Given the description of an element on the screen output the (x, y) to click on. 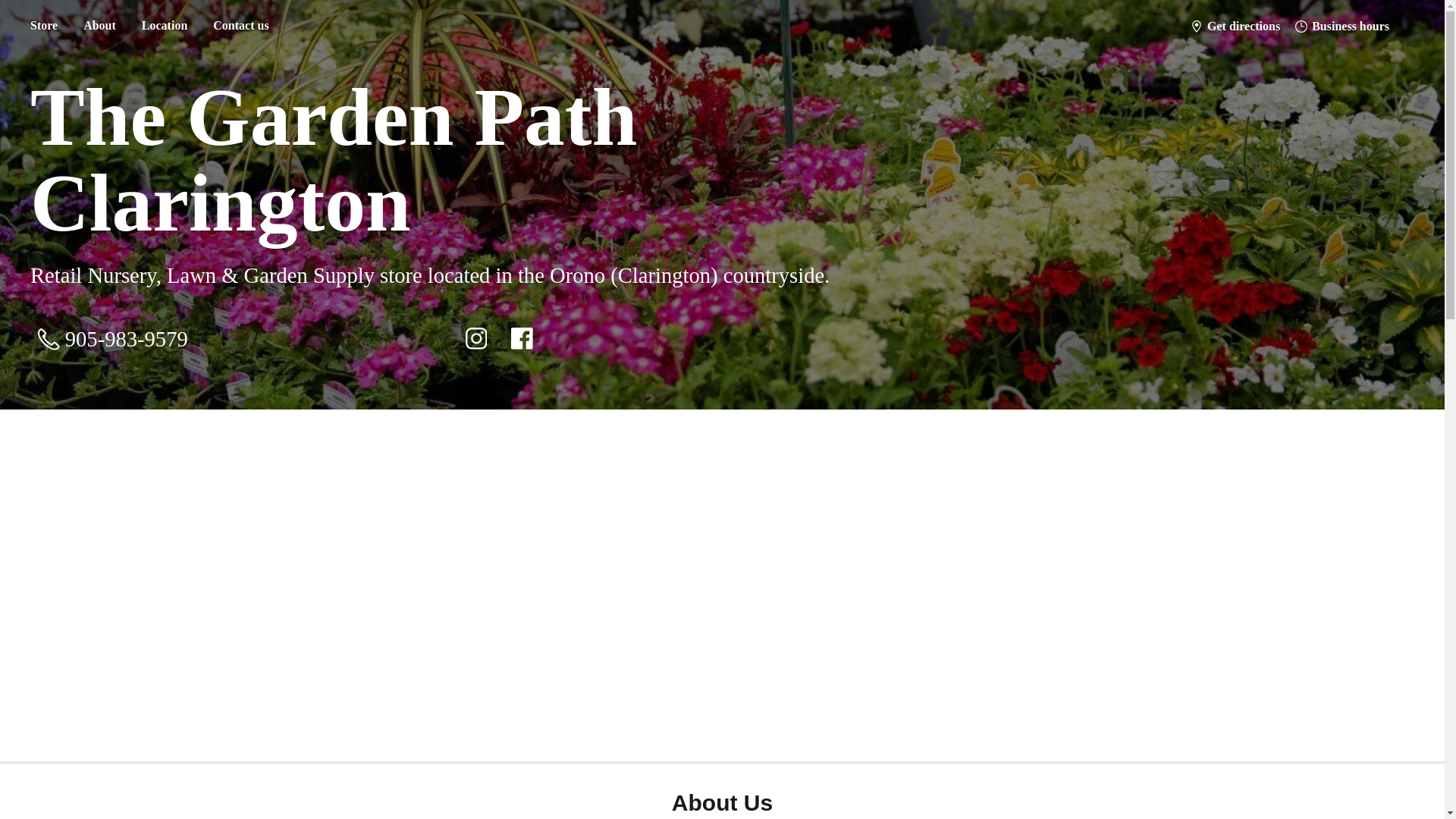
Location (164, 25)
Store (43, 25)
Business hours (1341, 26)
About (99, 25)
Contact us (240, 25)
Get directions (1234, 26)
905-983-9579 (112, 338)
